Given the description of an element on the screen output the (x, y) to click on. 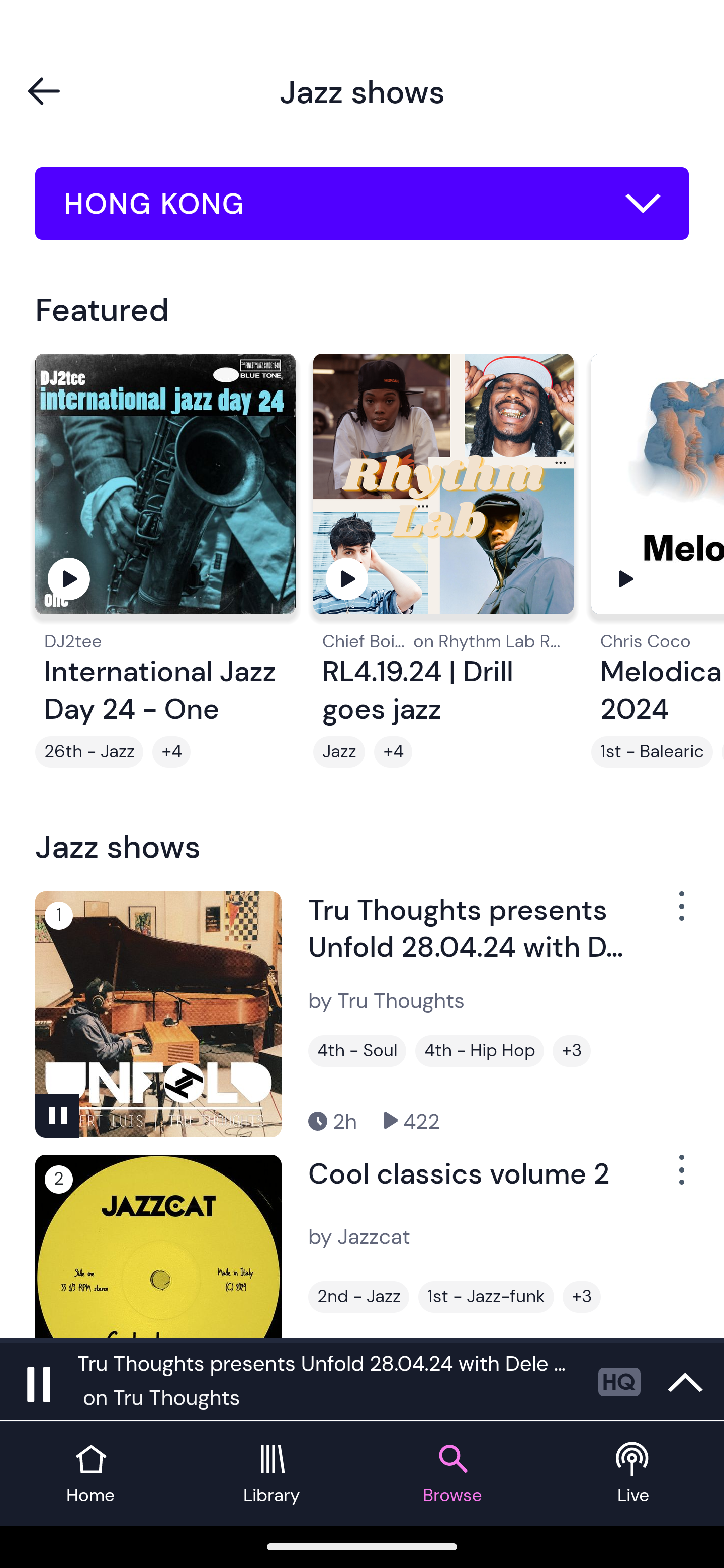
HONG KONG (361, 203)
26th - Jazz (89, 752)
Jazz (338, 752)
1st - Balearic (652, 752)
Show Options Menu Button (679, 913)
4th - Soul (357, 1050)
4th - Hip Hop (479, 1050)
Show Options Menu Button (679, 1178)
2nd - Jazz (358, 1296)
1st - Jazz-funk (485, 1296)
Home tab Home (90, 1473)
Library tab Library (271, 1473)
Browse tab Browse (452, 1473)
Live tab Live (633, 1473)
